Given the description of an element on the screen output the (x, y) to click on. 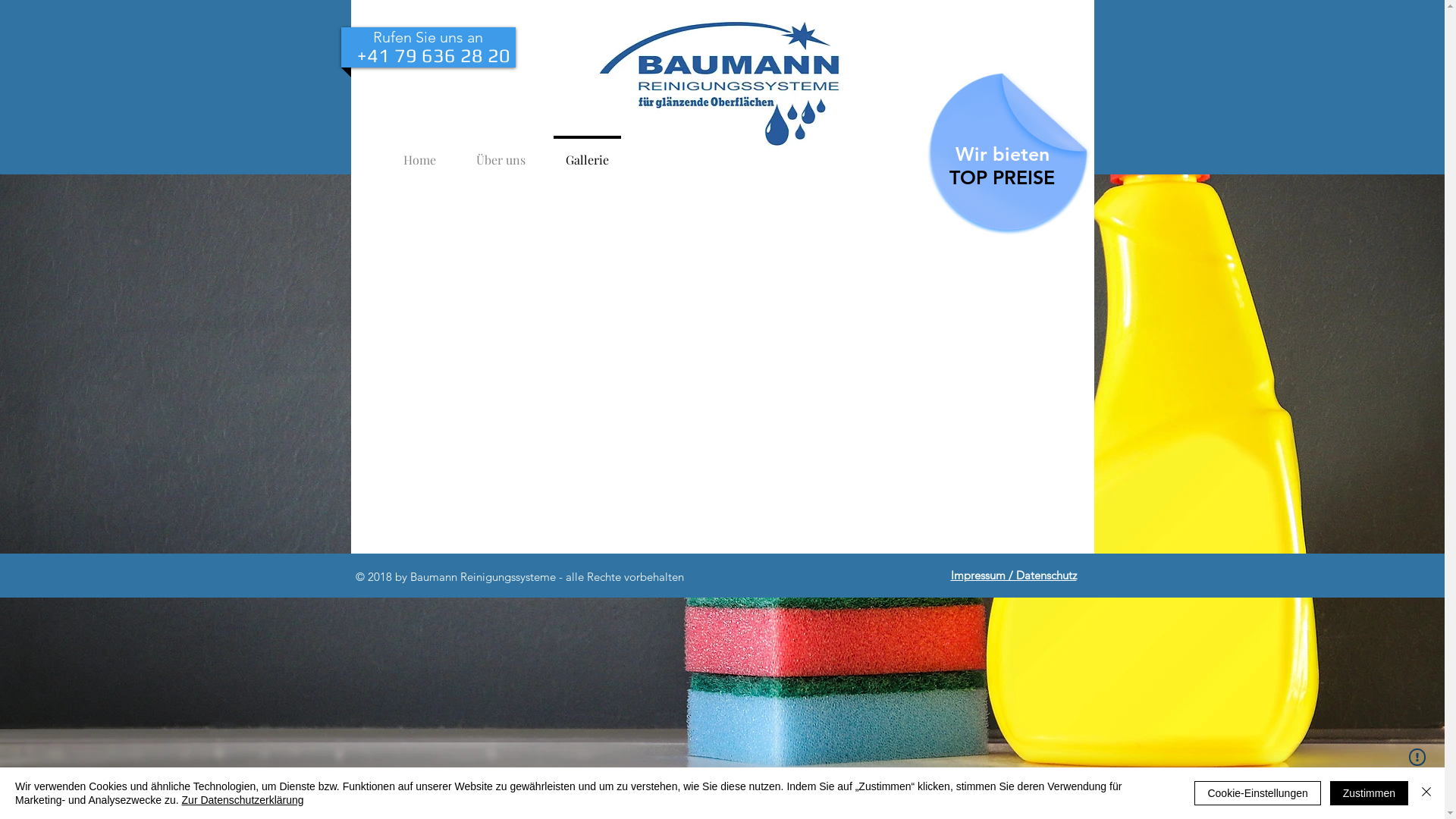
Gallerie Element type: text (587, 152)
Impressum / Datenschutz Element type: text (1013, 574)
Home Element type: text (419, 152)
Zustimmen Element type: text (1369, 793)
Cookie-Einstellungen Element type: text (1257, 793)
